Given the description of an element on the screen output the (x, y) to click on. 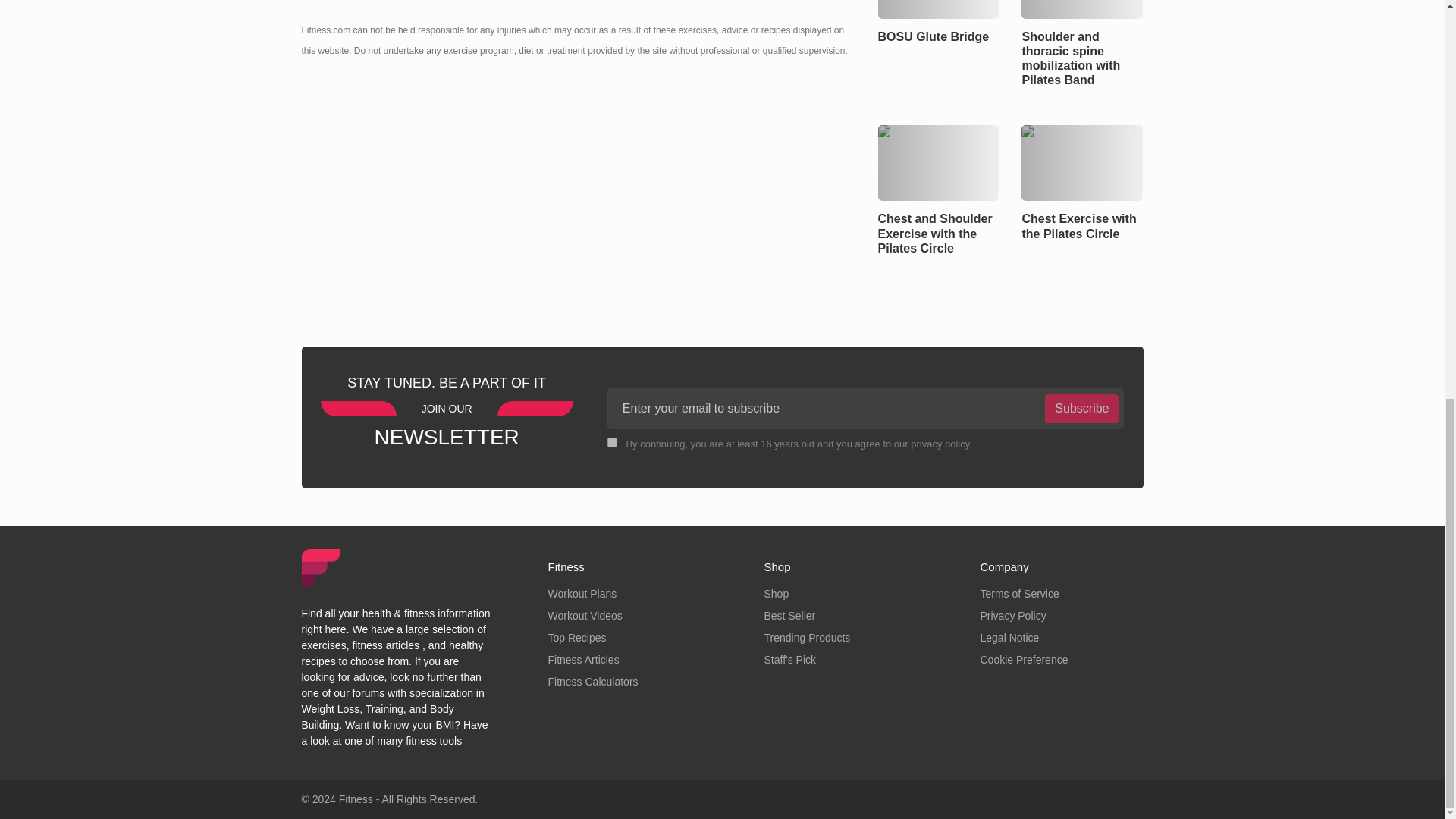
Chest Exercise with the Pilates Circle (1082, 162)
Chest and Shoulder Exercise with the Pilates Circle (937, 162)
BOSU Glute Bridge (937, 9)
Shoulder and thoracic spine mobilization with Pilates Band (1082, 9)
on (612, 442)
BOSU Glute Bridge (933, 36)
Chest and Shoulder Exercise with the Pilates Circle (934, 232)
Shoulder and thoracic spine mobilization with Pilates Band (1070, 58)
